Given the description of an element on the screen output the (x, y) to click on. 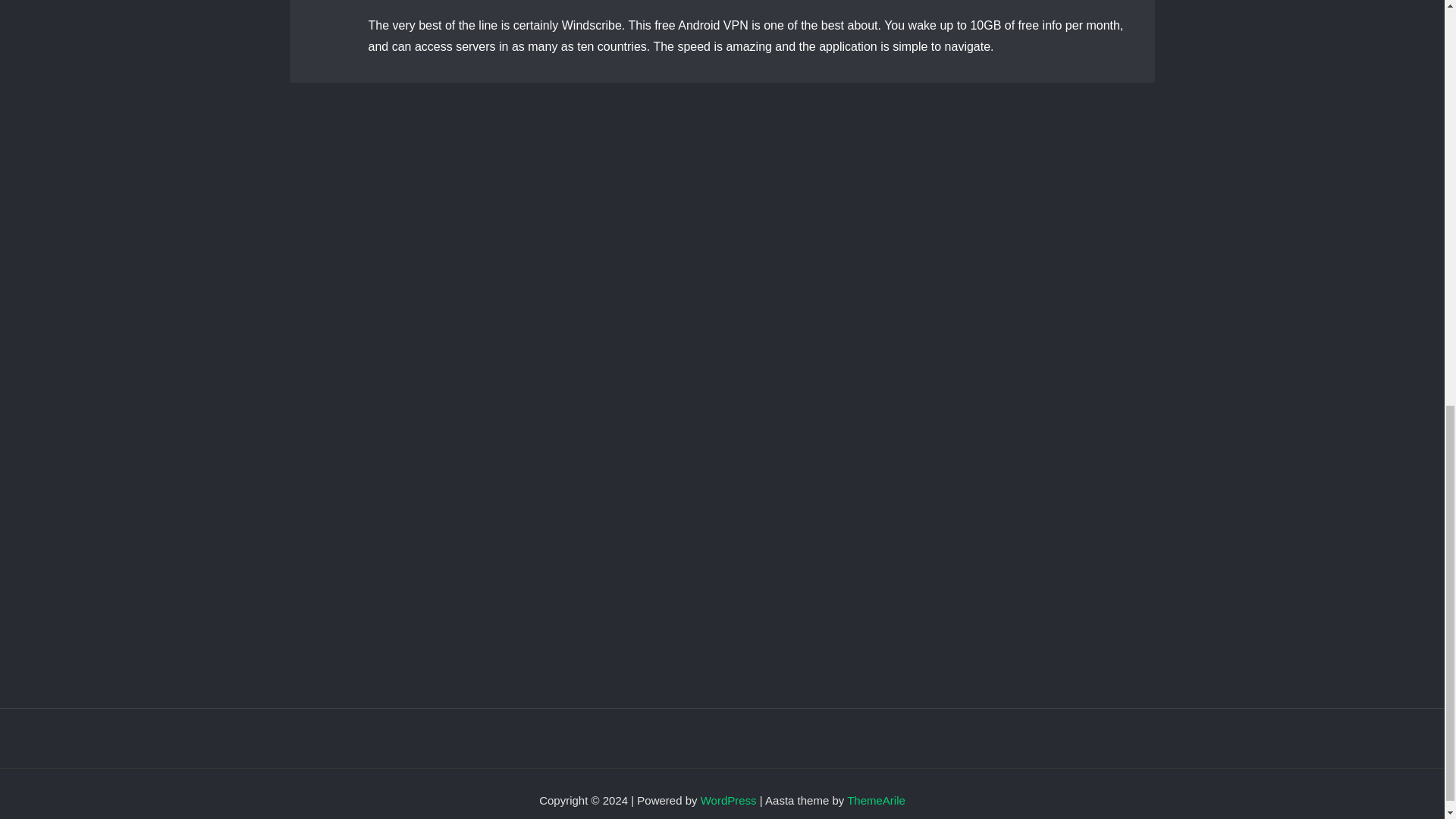
WordPress (728, 799)
Submit (363, 596)
ThemeArile (876, 799)
